Given the description of an element on the screen output the (x, y) to click on. 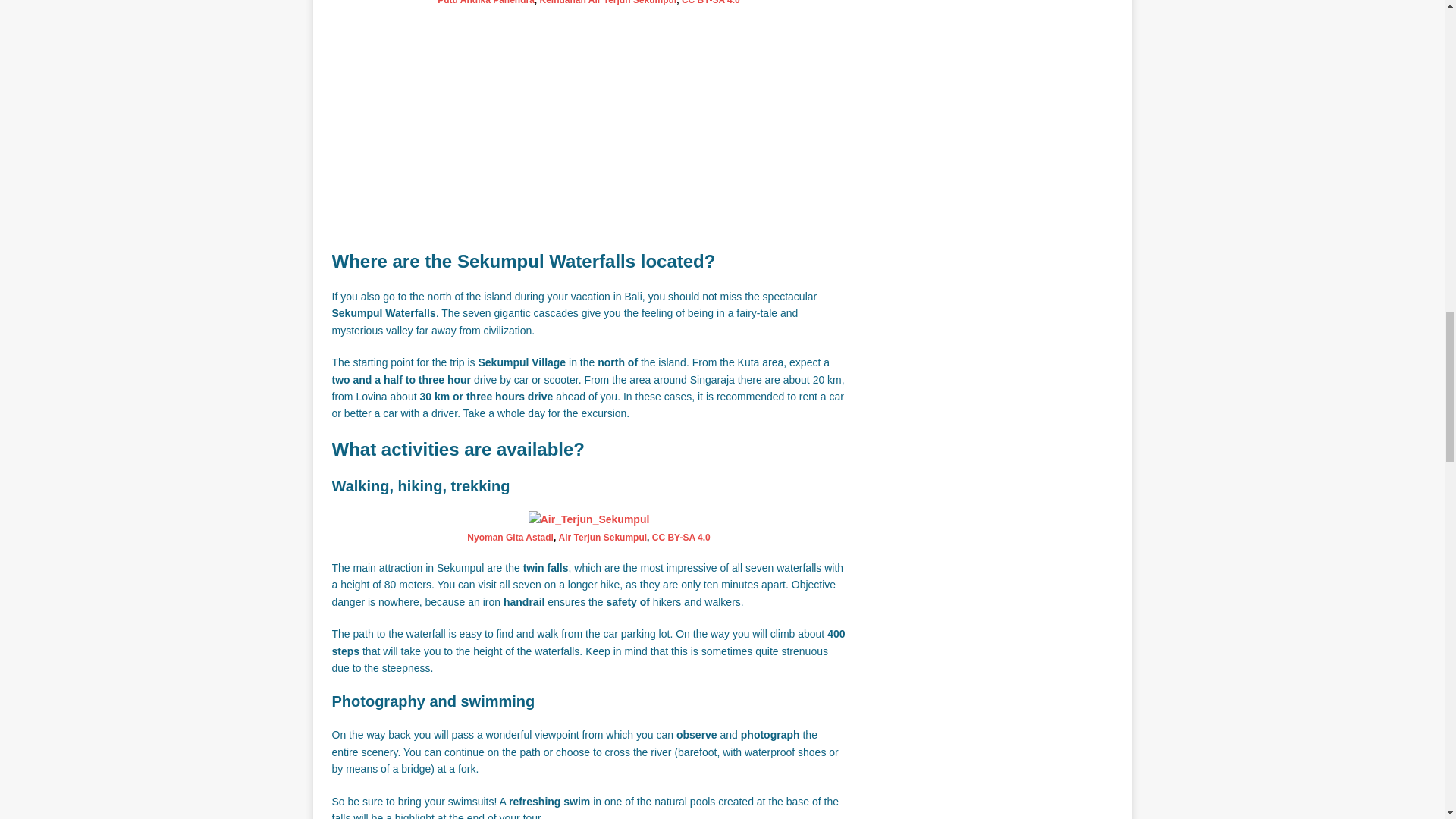
Putu Andika Panendra (486, 2)
Keindahan Air Terjun Sekumpul (608, 2)
Nyoman Gita Astadi (510, 537)
CC BY-SA 4.0 (710, 2)
Air Terjun Sekumpul (602, 537)
CC BY-SA 4.0 (681, 537)
